Given the description of an element on the screen output the (x, y) to click on. 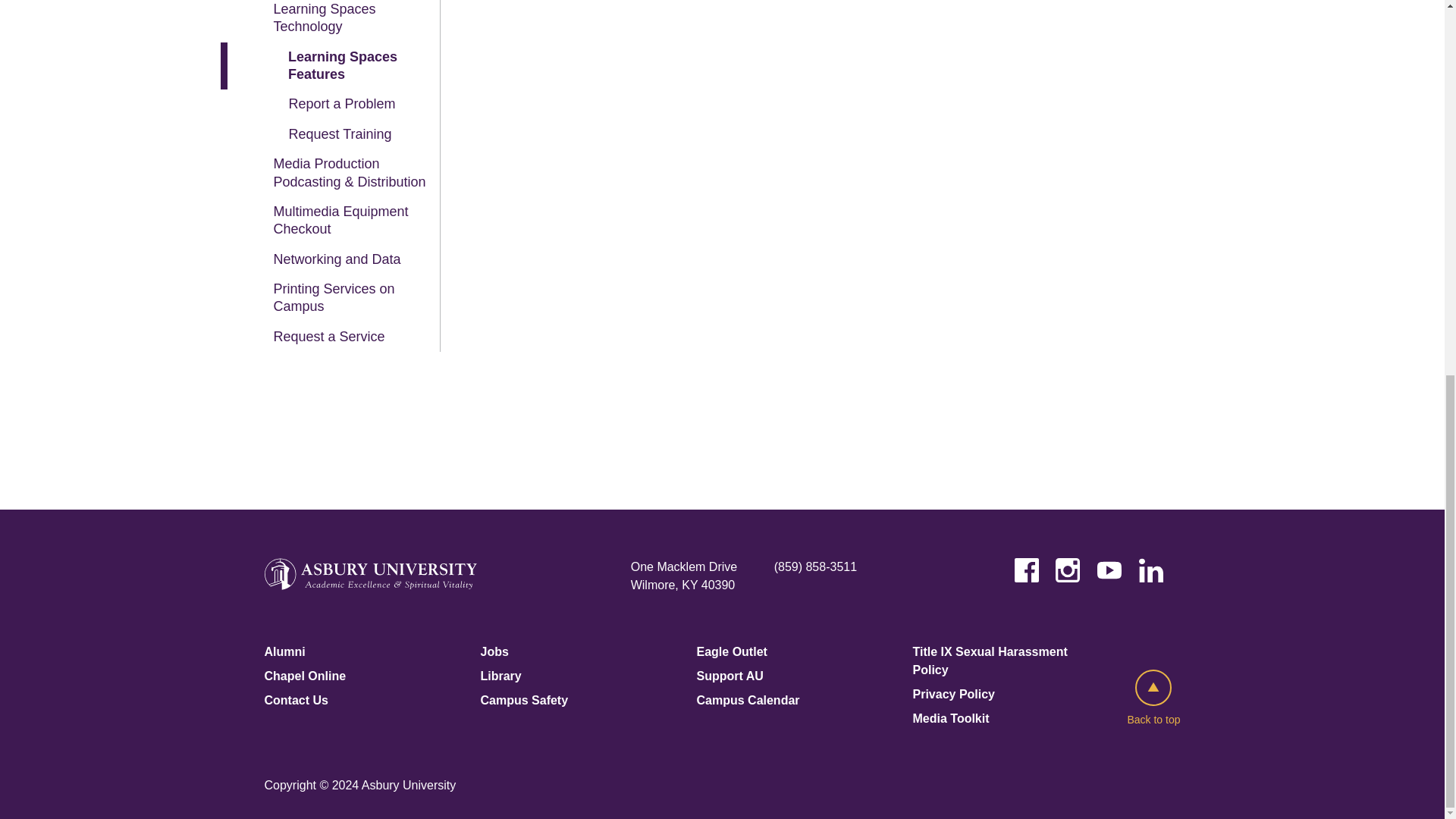
Back to top (1152, 698)
